Given the description of an element on the screen output the (x, y) to click on. 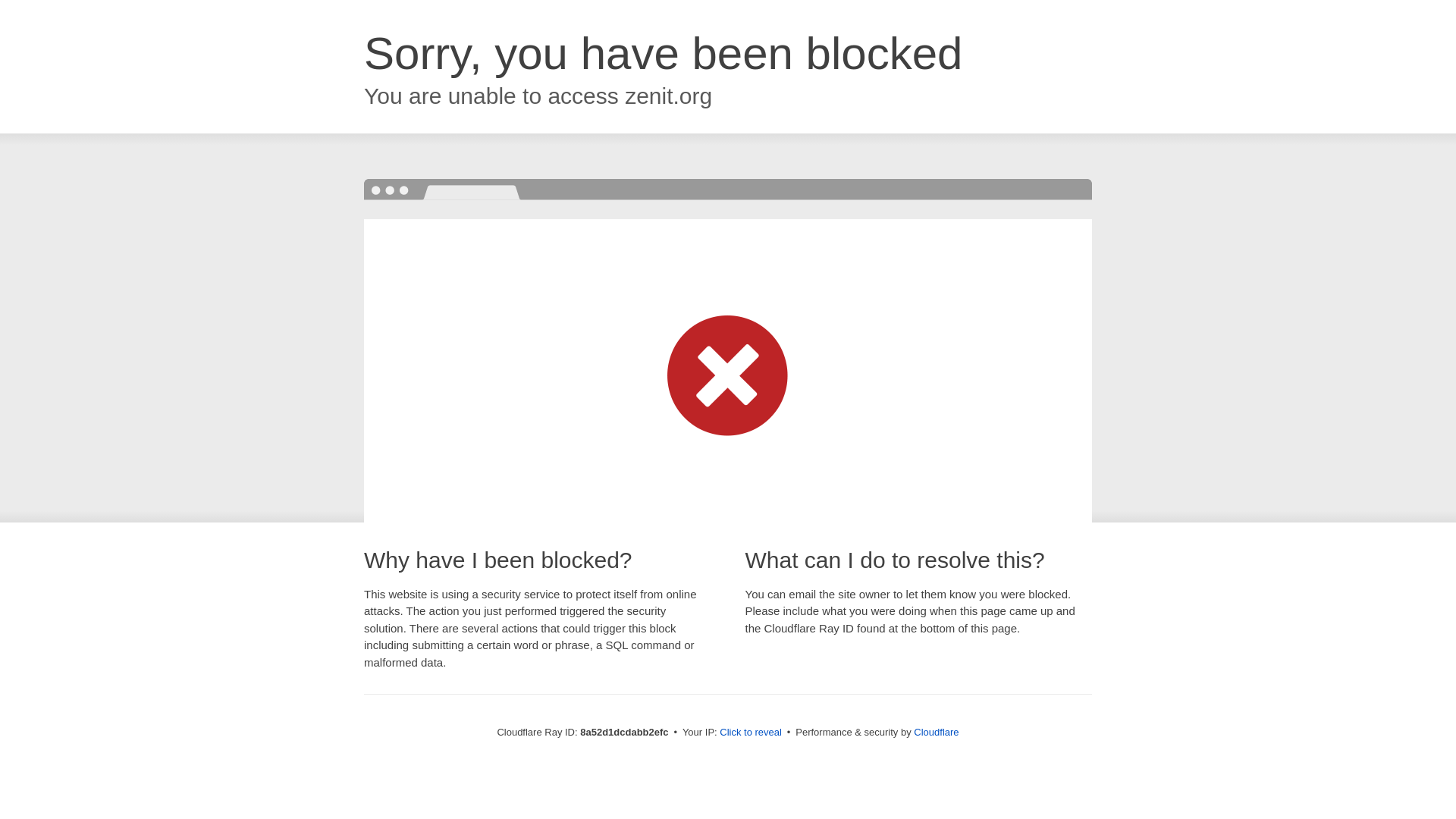
Cloudflare (936, 731)
Click to reveal (750, 732)
